Given the description of an element on the screen output the (x, y) to click on. 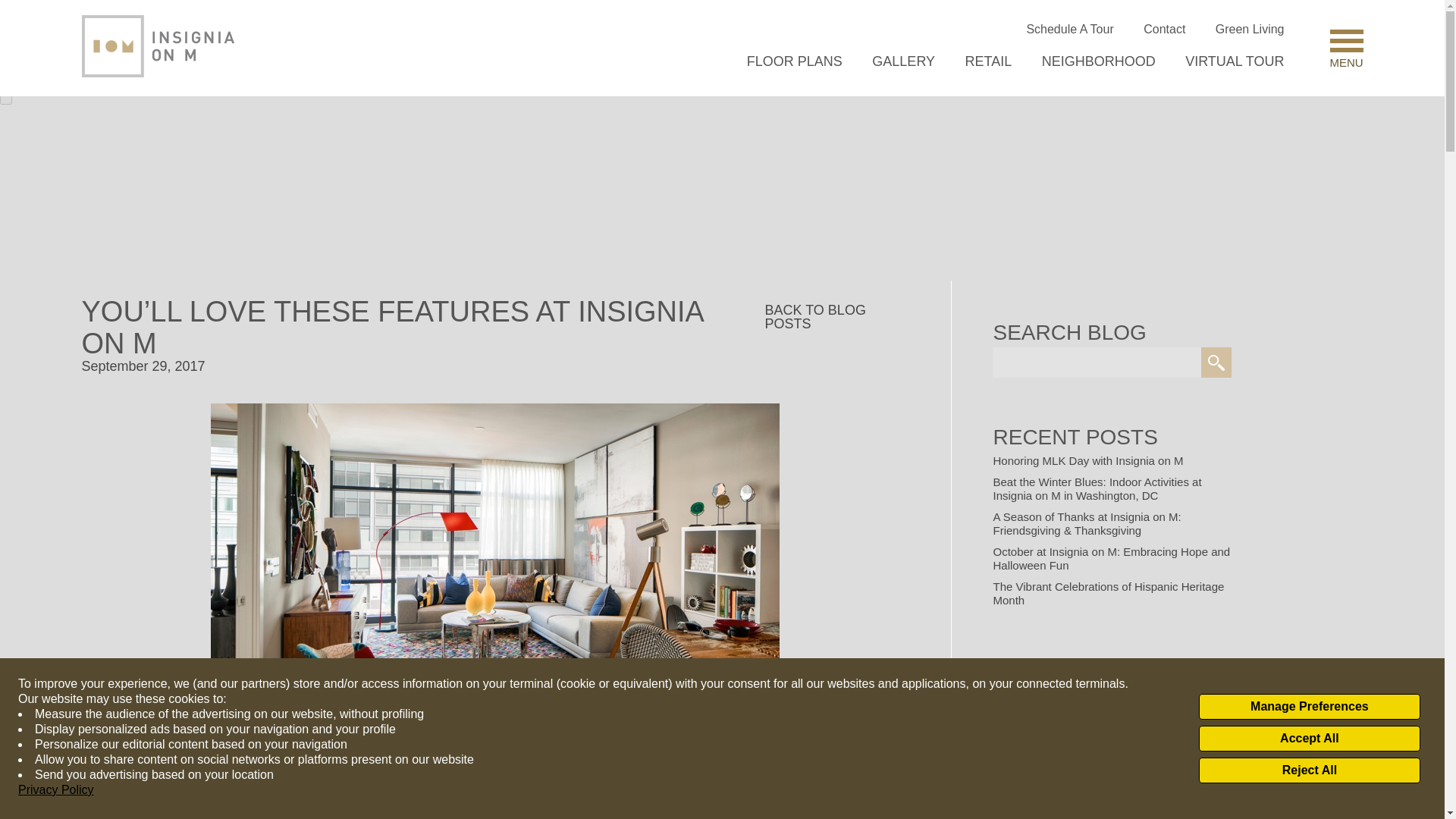
NEIGHBORHOOD (1099, 60)
Green Living (1249, 29)
FLOOR PLANS (794, 60)
Contact (1163, 29)
Accept All (1309, 738)
Manage Preferences (1309, 706)
Search (1216, 362)
Reject All (1309, 769)
Privacy Policy (55, 789)
RETAIL (988, 60)
